Given the description of an element on the screen output the (x, y) to click on. 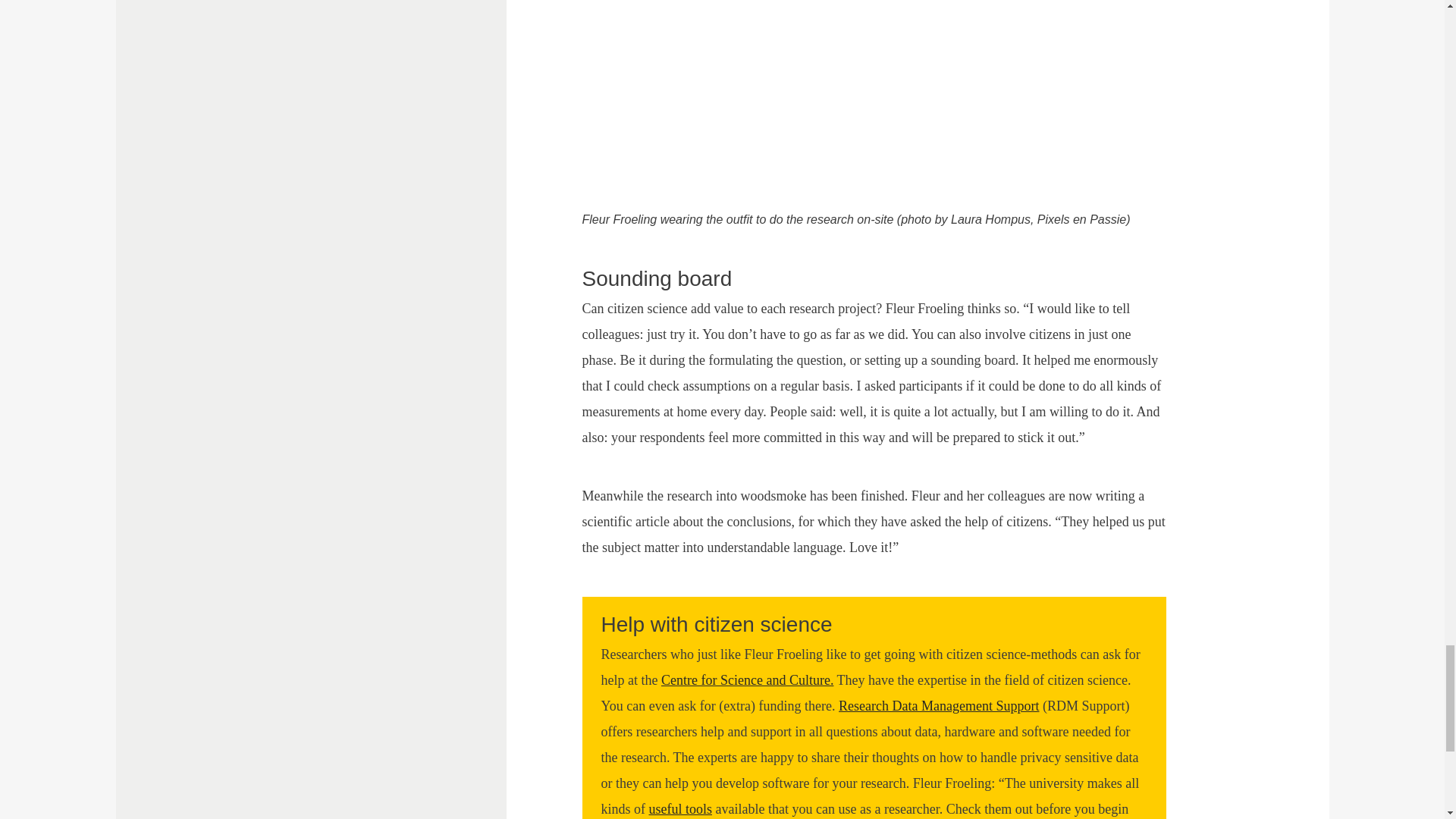
Centre for Science and Culture. (746, 679)
Research Data Management Support (938, 705)
useful tools (681, 808)
